Given the description of an element on the screen output the (x, y) to click on. 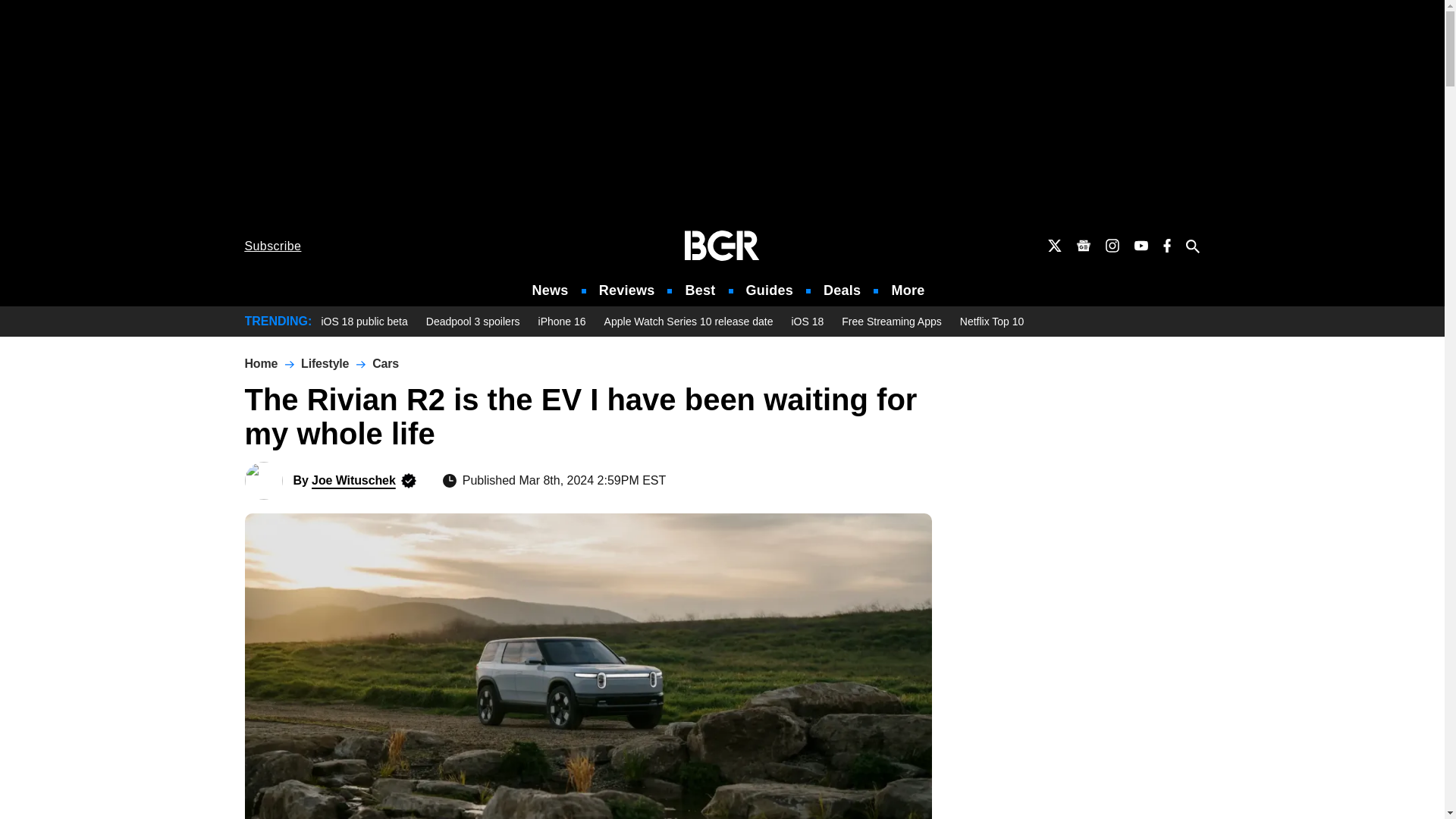
News (550, 290)
More (907, 290)
Deals (842, 290)
Reviews (626, 290)
Subscribe (272, 245)
Posts by Joe Wituschek (353, 480)
Guides (769, 290)
Best (699, 290)
